Given the description of an element on the screen output the (x, y) to click on. 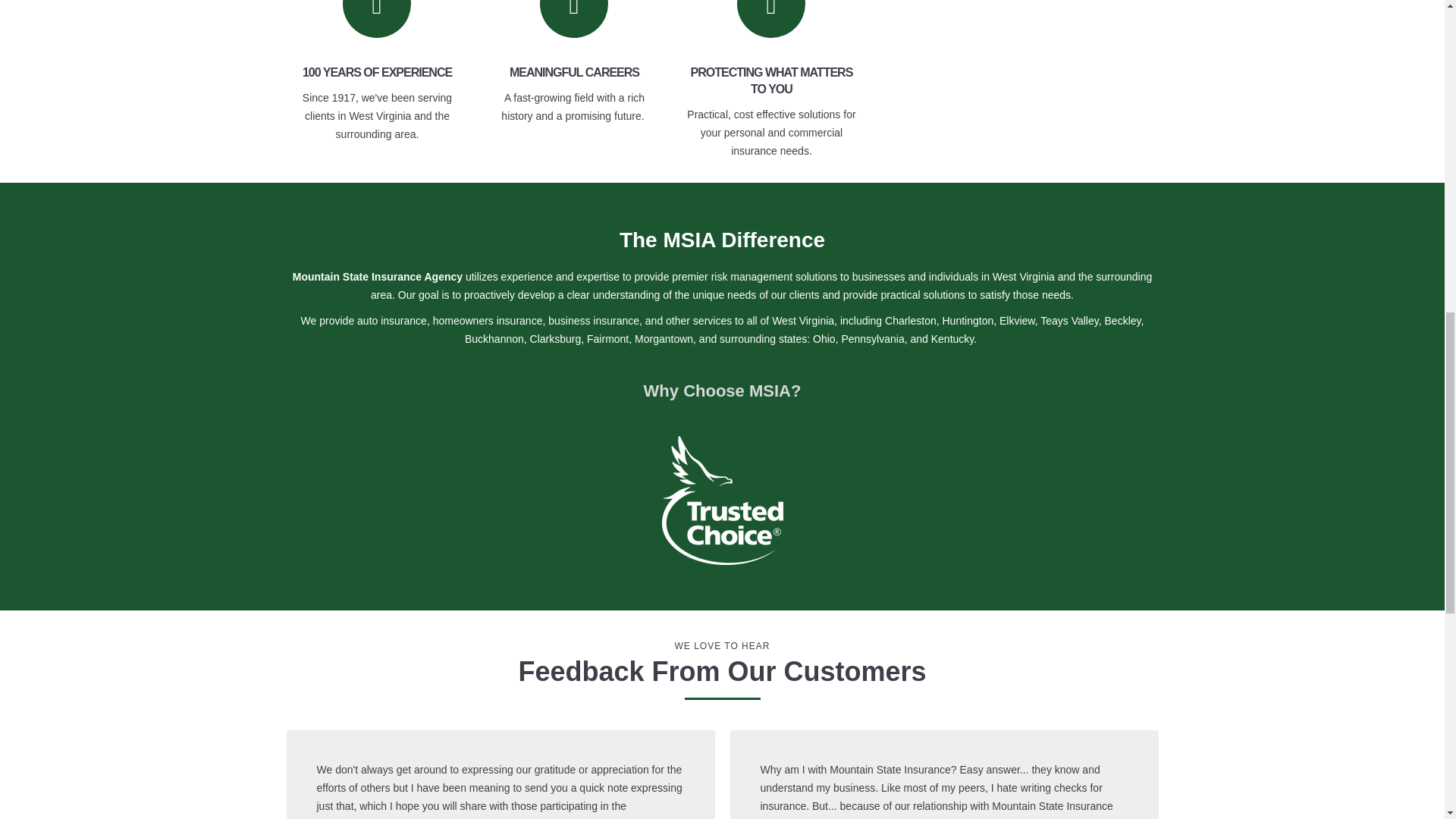
Trusted Choice (722, 500)
